Given the description of an element on the screen output the (x, y) to click on. 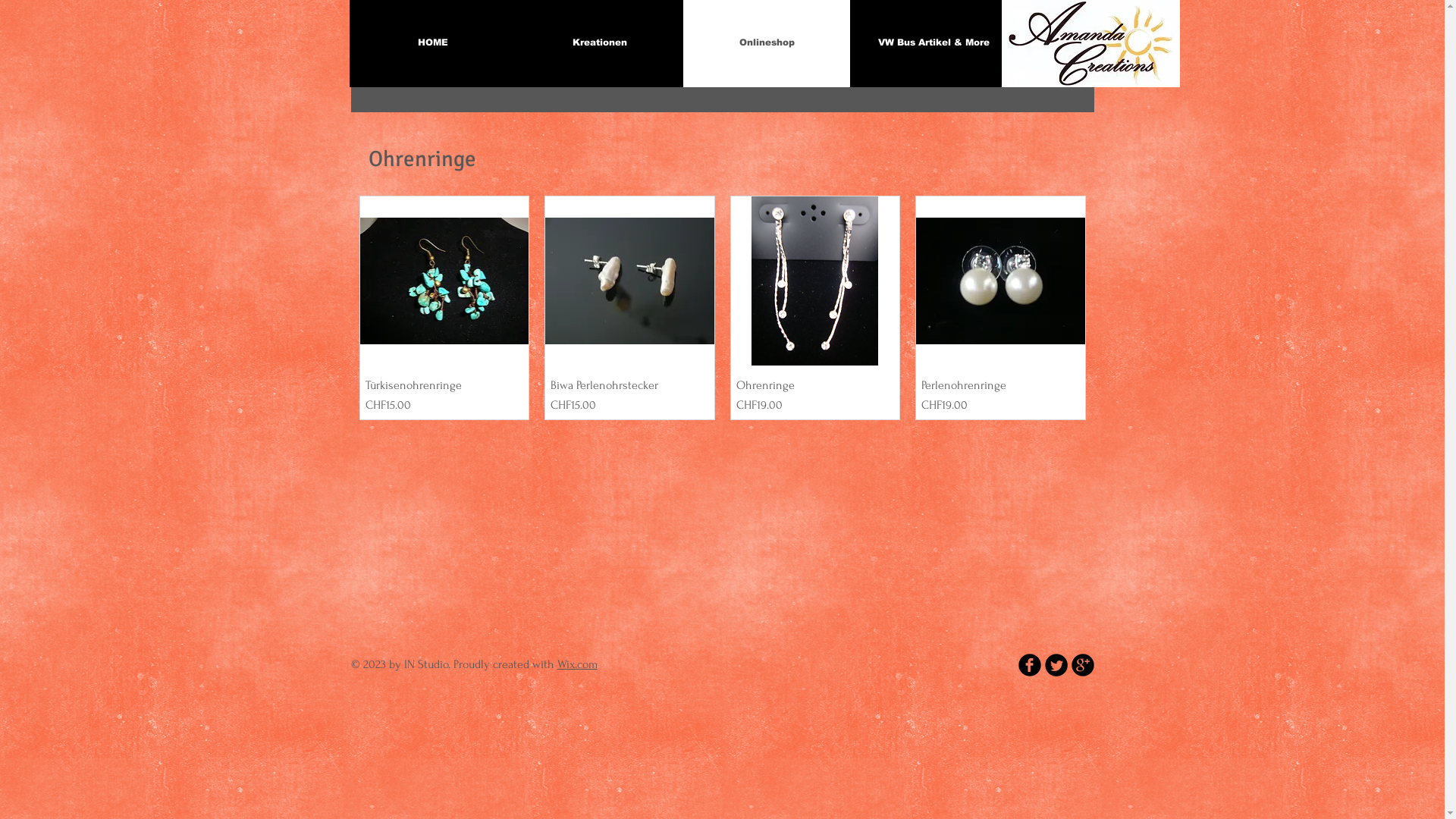
Wix.com Element type: text (576, 664)
Biwa Perlenohrstecker
Preis
CHF15.00 Element type: text (629, 395)
Ohrenringe
Preis
CHF19.00 Element type: text (814, 395)
Perlenohrenringe
Preis
CHF19.00 Element type: text (1000, 395)
